Given the description of an element on the screen output the (x, y) to click on. 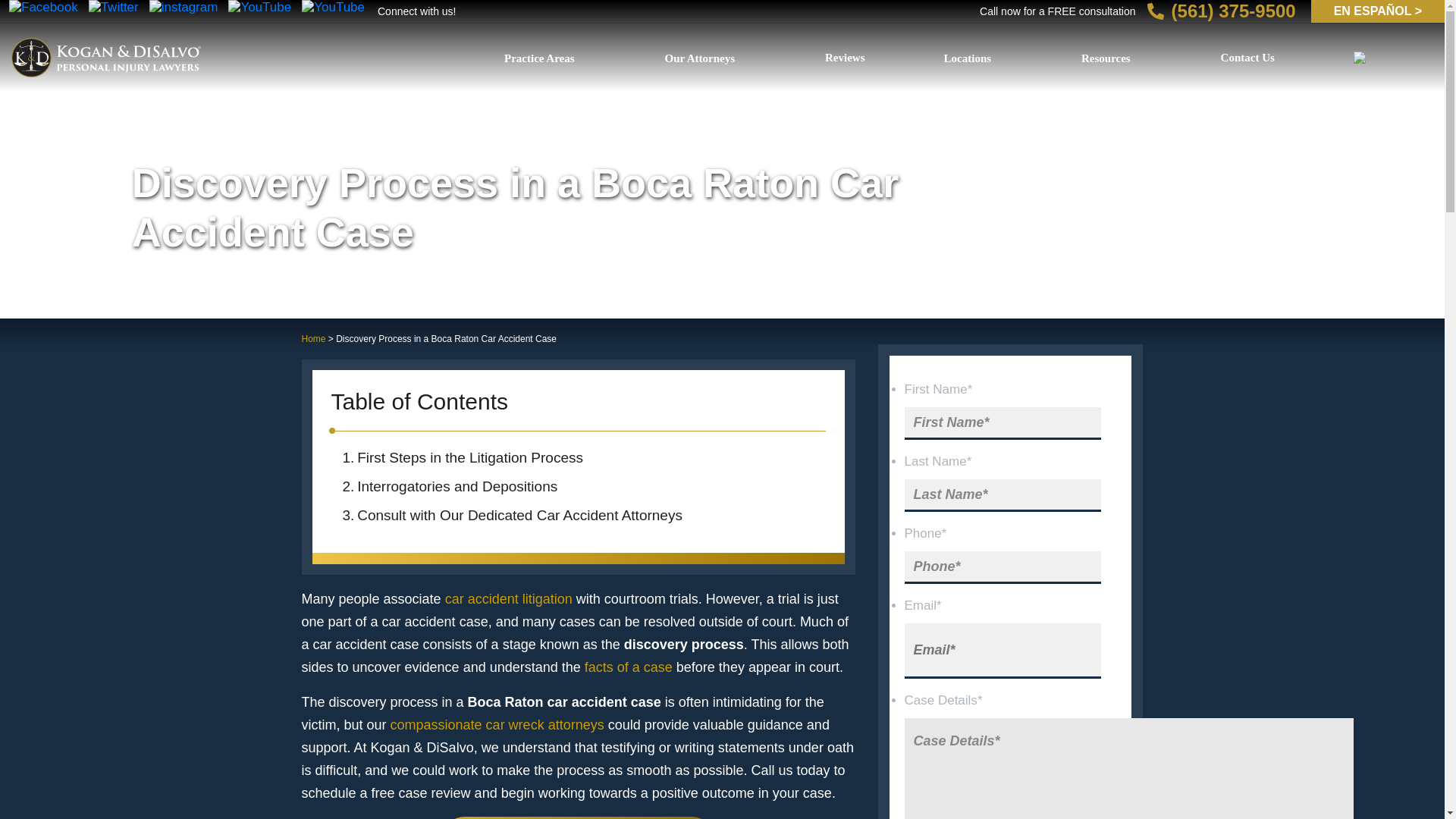
Practice Areas (544, 57)
Consult with Our Dedicated Car Accident Attorneys (577, 515)
First Steps in the Litigation Process (577, 457)
Interrogatories and Depositions (577, 486)
